Given the description of an element on the screen output the (x, y) to click on. 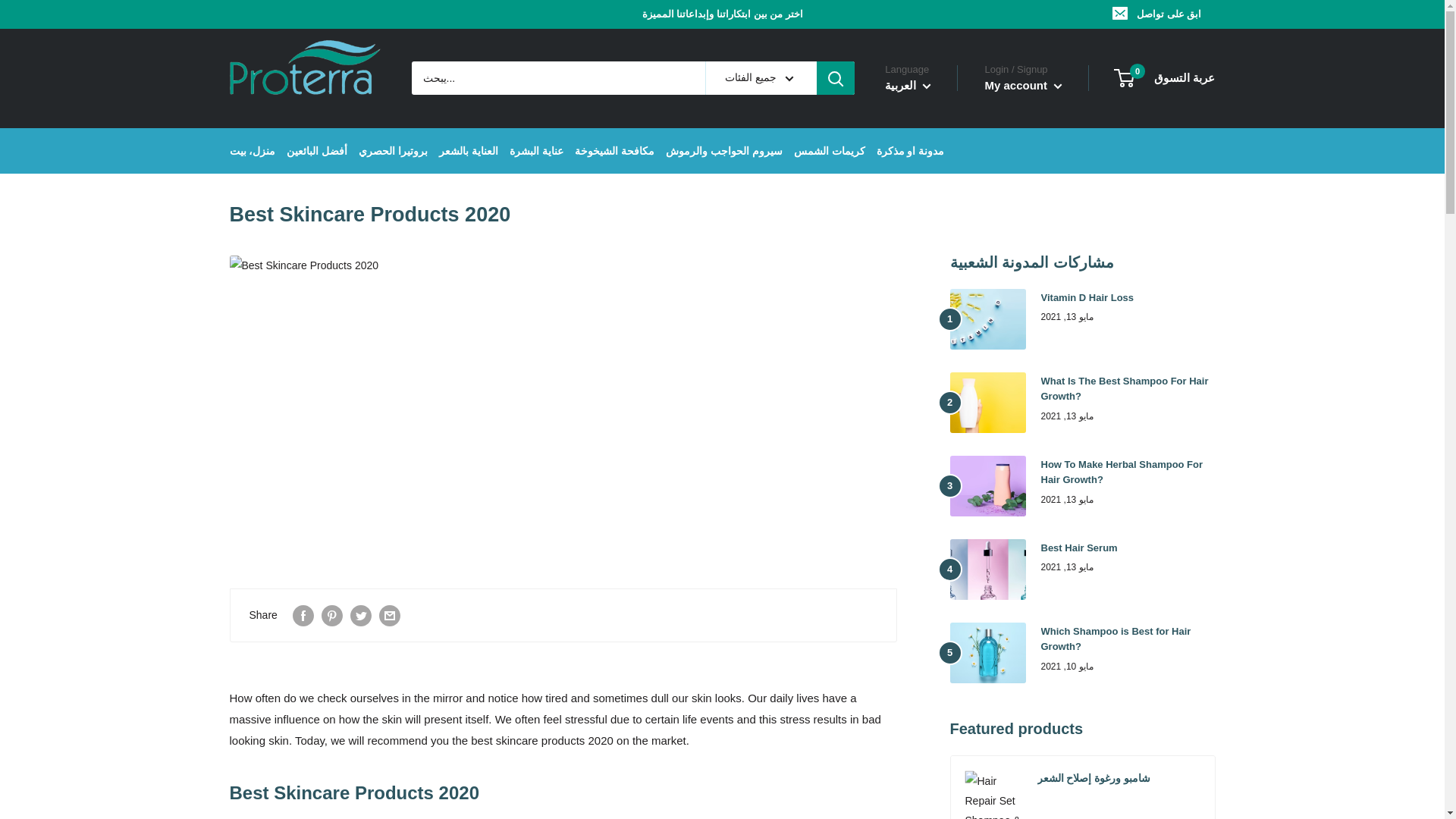
en (915, 128)
fr (915, 169)
de (915, 190)
Proterra Cosmetics International (304, 77)
ar (915, 149)
